Given the description of an element on the screen output the (x, y) to click on. 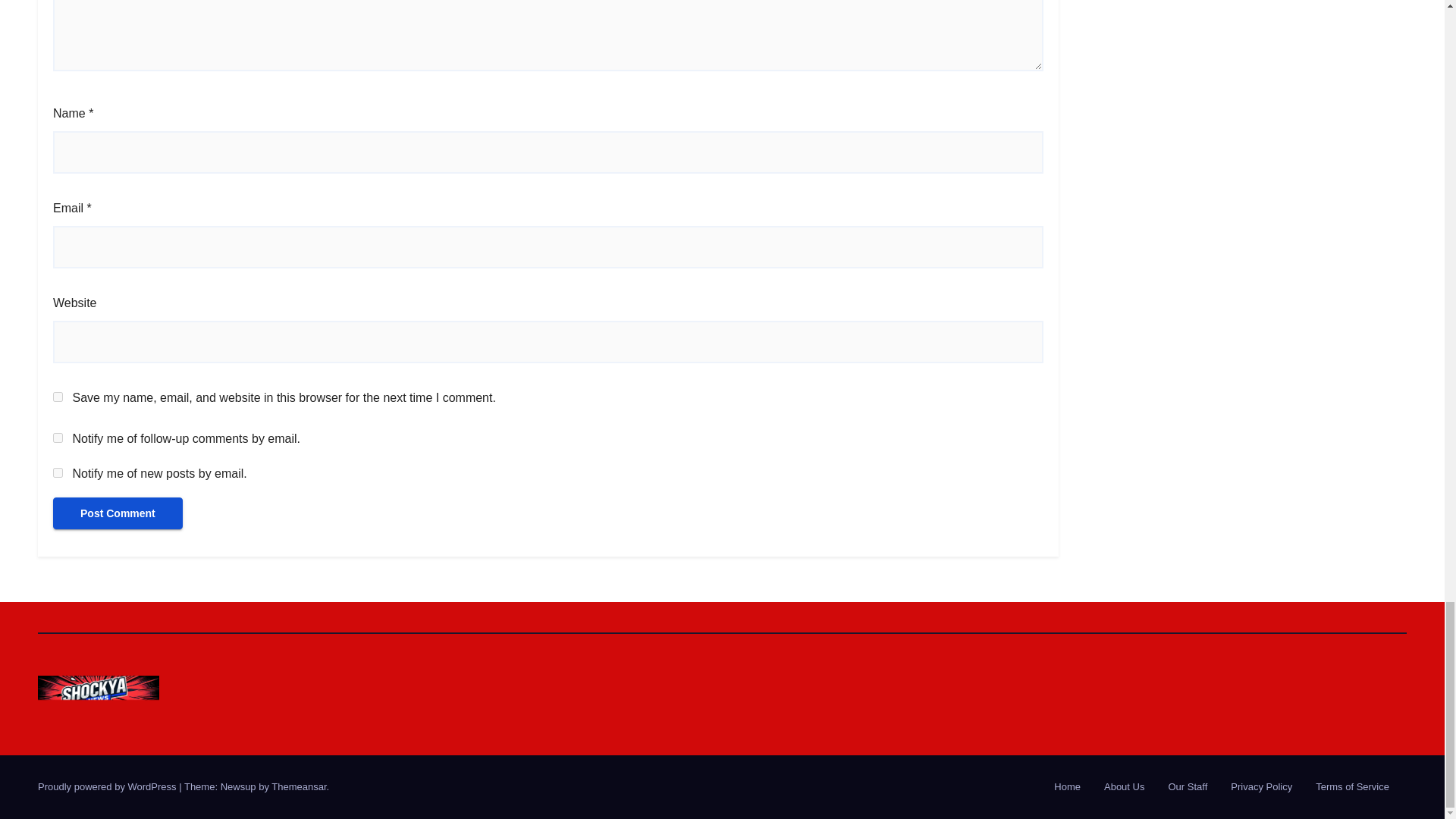
Home (1067, 786)
yes (57, 397)
Post Comment (117, 513)
subscribe (57, 472)
subscribe (57, 438)
